Given the description of an element on the screen output the (x, y) to click on. 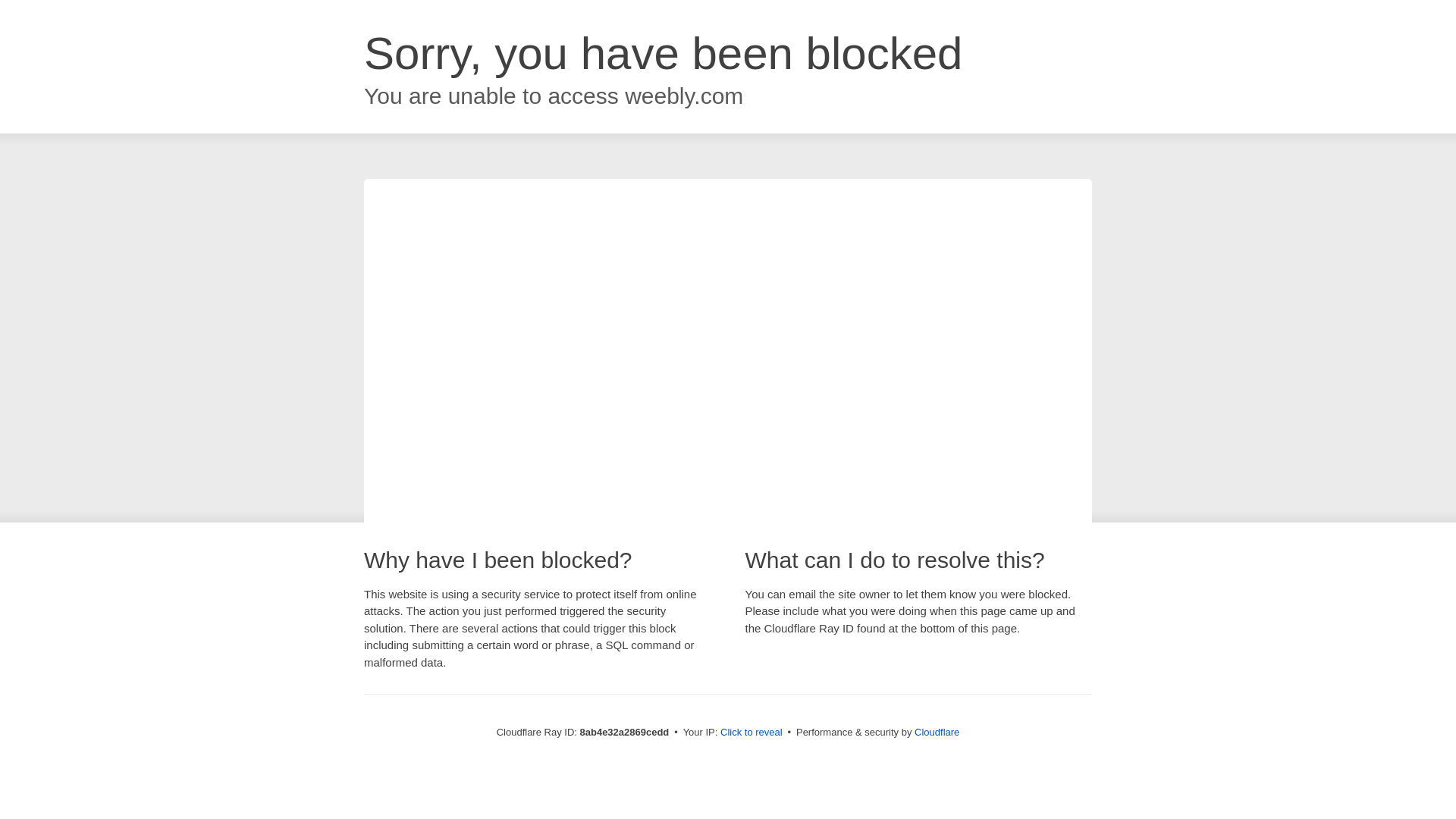
Click to reveal (751, 732)
Cloudflare (936, 731)
